Given the description of an element on the screen output the (x, y) to click on. 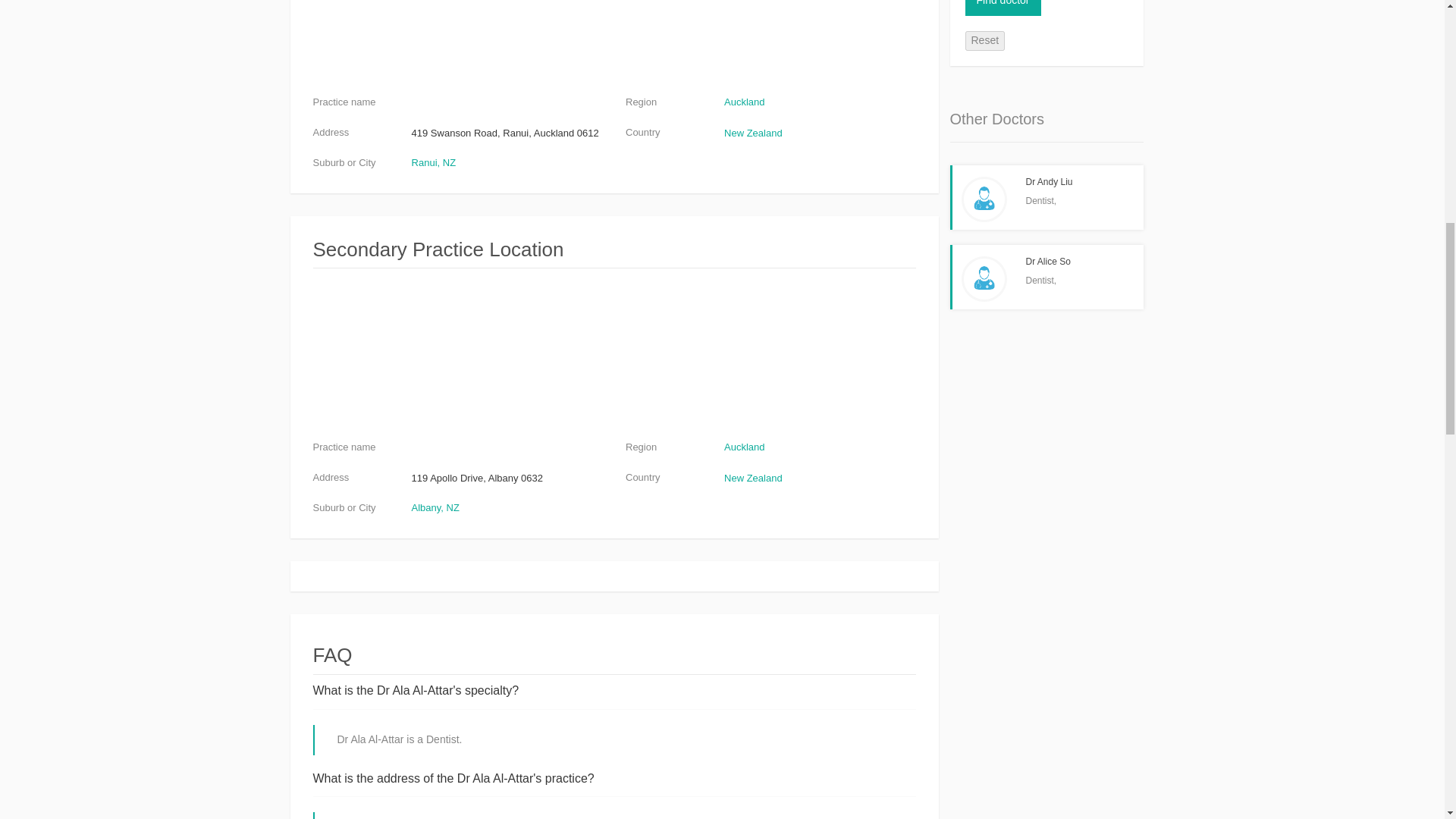
New Zealand (753, 132)
Find doctor (1002, 7)
Auckland (743, 101)
Dr Alice So (1047, 261)
Auckland (743, 446)
Ranui, NZ (434, 162)
New Zealand (753, 478)
Albany, NZ (436, 507)
Dr Andy Liu (1048, 181)
